Given the description of an element on the screen output the (x, y) to click on. 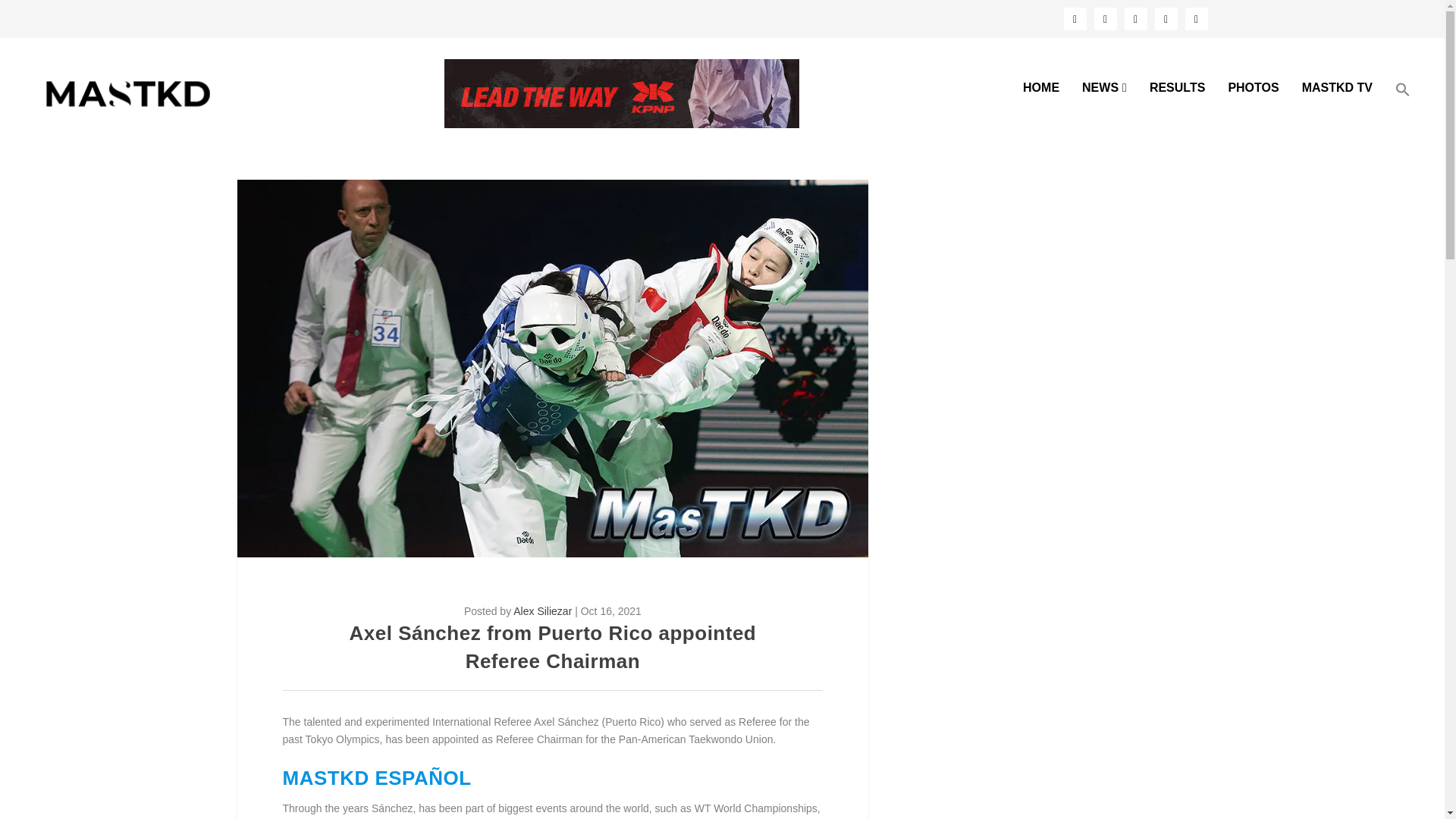
RESULTS (1177, 112)
Posts by Alex Siliezar (542, 611)
Alex Siliezar (542, 611)
MASTKD TV (1337, 112)
